Given the description of an element on the screen output the (x, y) to click on. 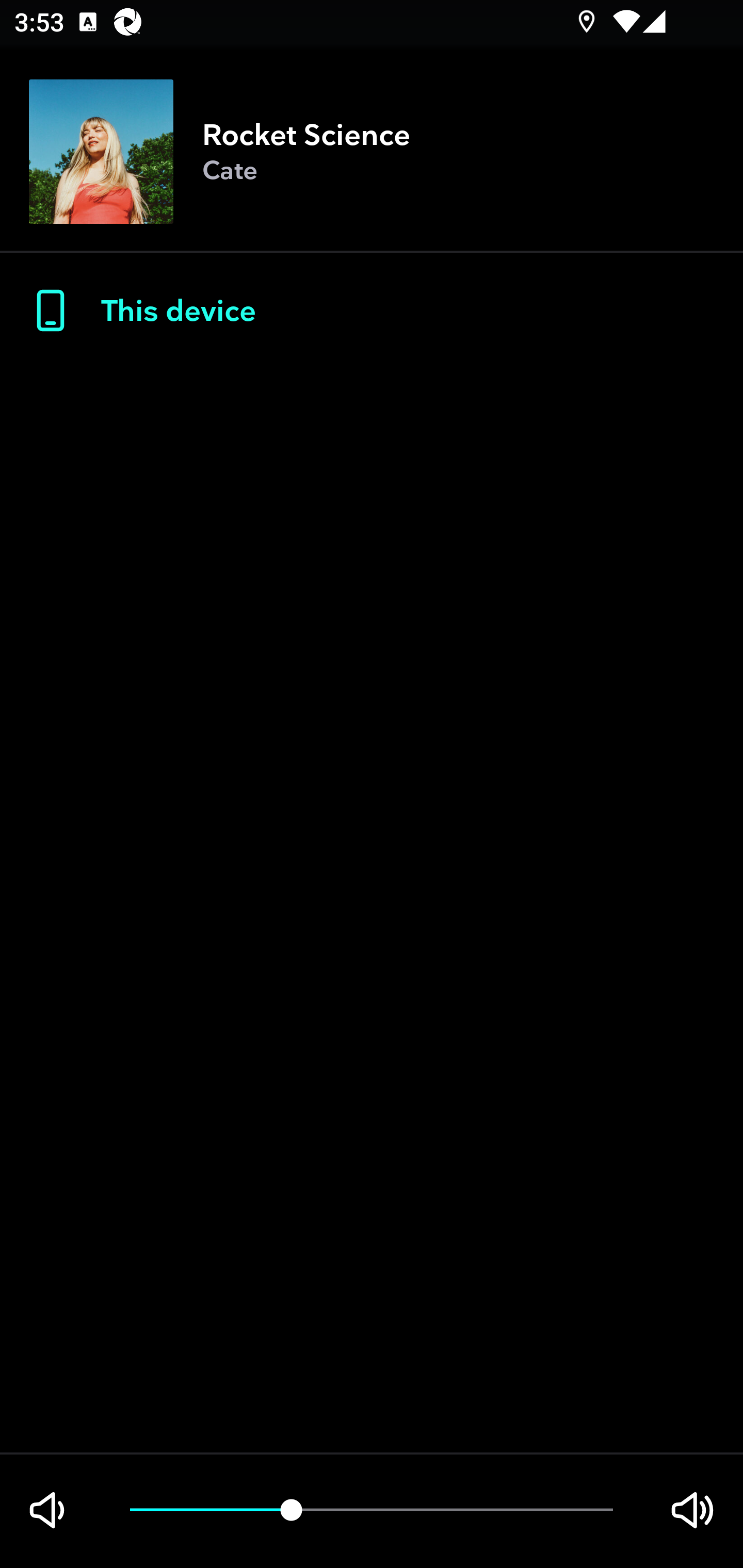
This device (371, 310)
